Given the description of an element on the screen output the (x, y) to click on. 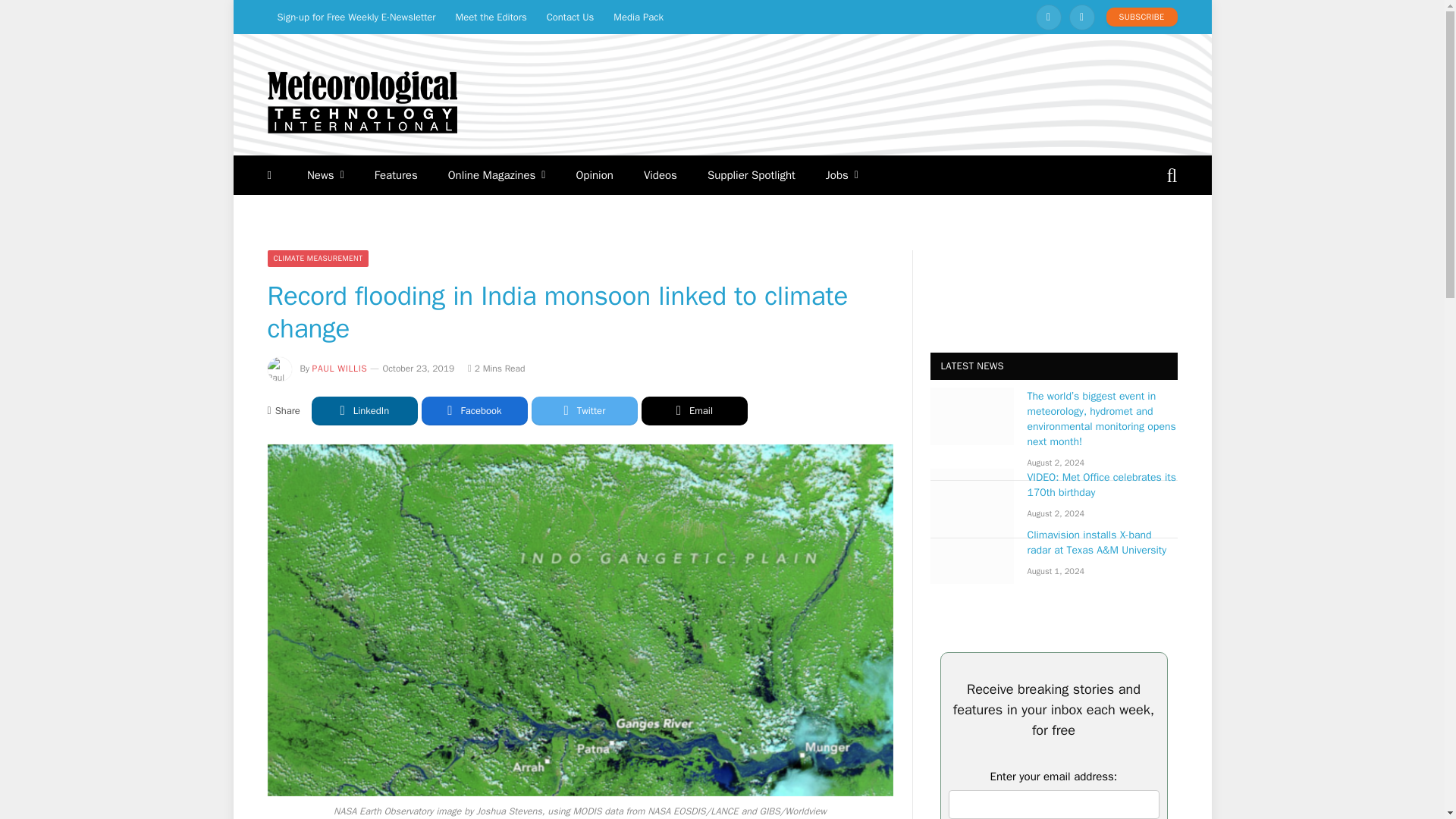
Posts by Paul Willis (340, 368)
Meteorological Technology International (361, 101)
Share on Facebook (474, 410)
Share on LinkedIn (364, 410)
Share via Email (695, 410)
Share on Twitter (584, 410)
